Given the description of an element on the screen output the (x, y) to click on. 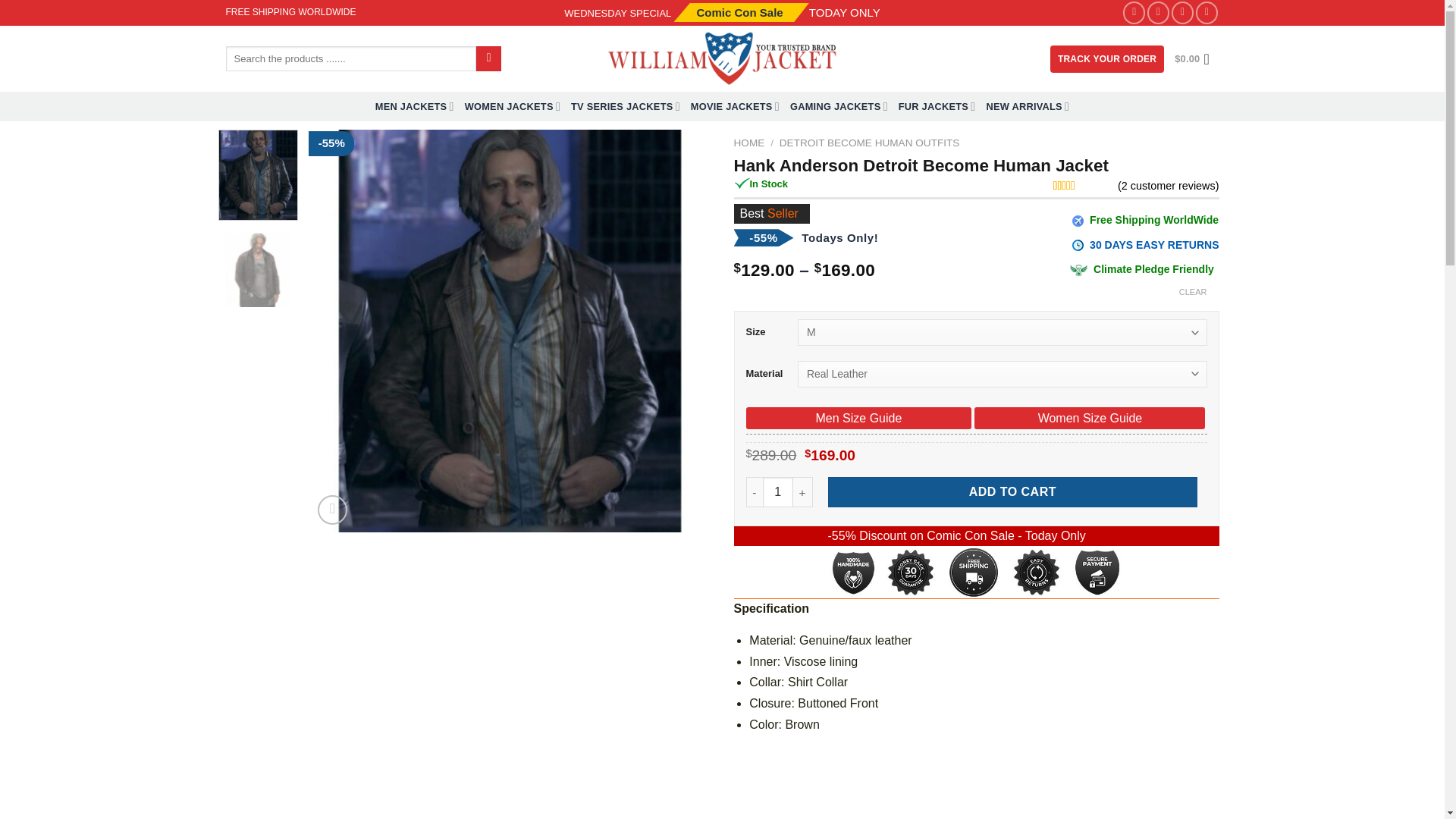
Zoom (332, 509)
Search (488, 58)
Cart (1196, 59)
Follow on Instagram (1158, 12)
Follow on Facebook (1133, 12)
1 (777, 491)
MEN JACKETS (414, 106)
TRACK YOUR ORDER (1106, 58)
Follow on Twitter (1182, 12)
Follow on Pinterest (1206, 12)
William Jacket - William Jacket The Brand you Trust on (722, 58)
